Given the description of an element on the screen output the (x, y) to click on. 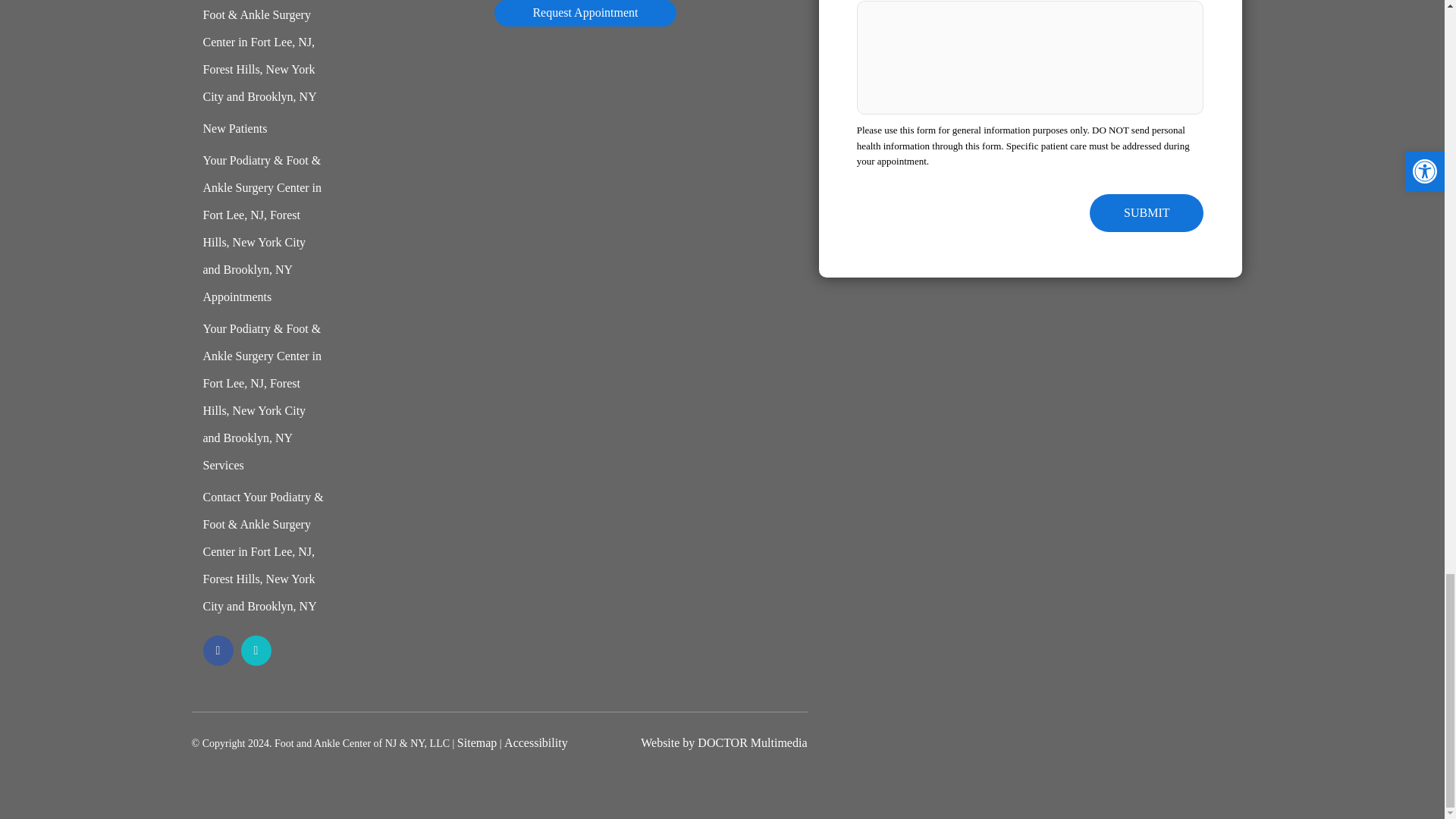
Submit (1146, 212)
